Given the description of an element on the screen output the (x, y) to click on. 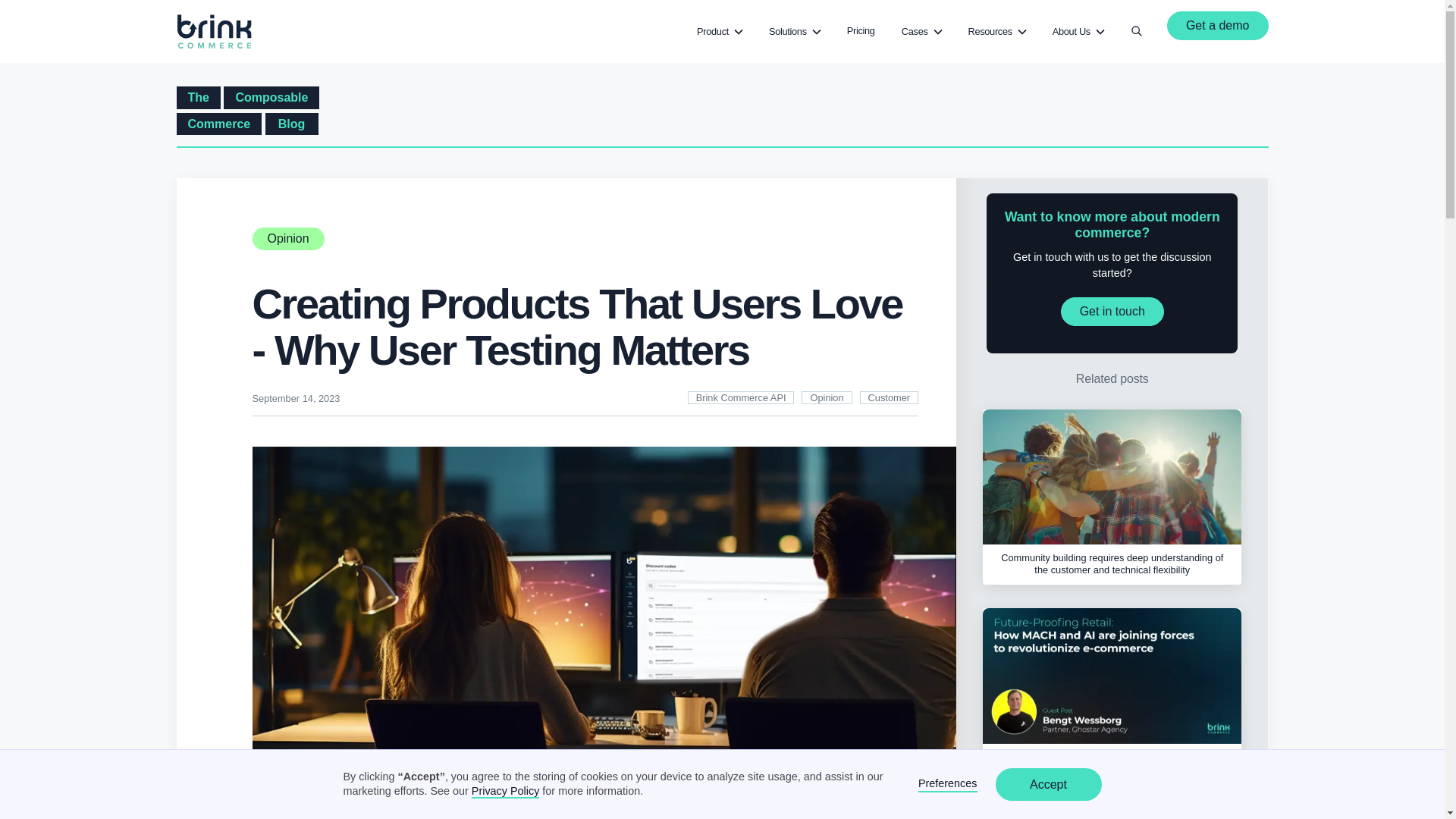
Pricing (861, 30)
